Given the description of an element on the screen output the (x, y) to click on. 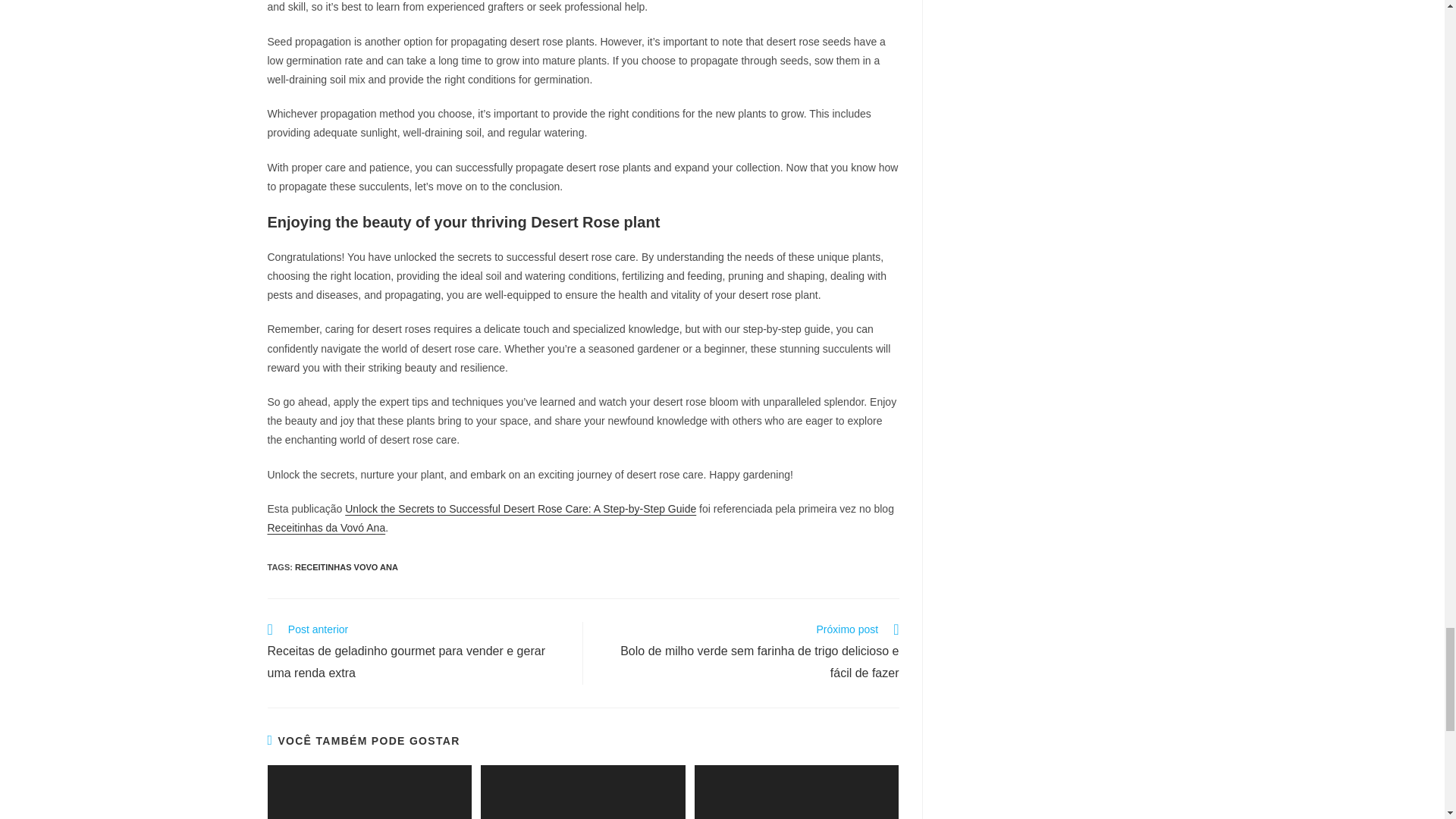
Carro parado esvazia o pneu? 4 (796, 791)
